Given the description of an element on the screen output the (x, y) to click on. 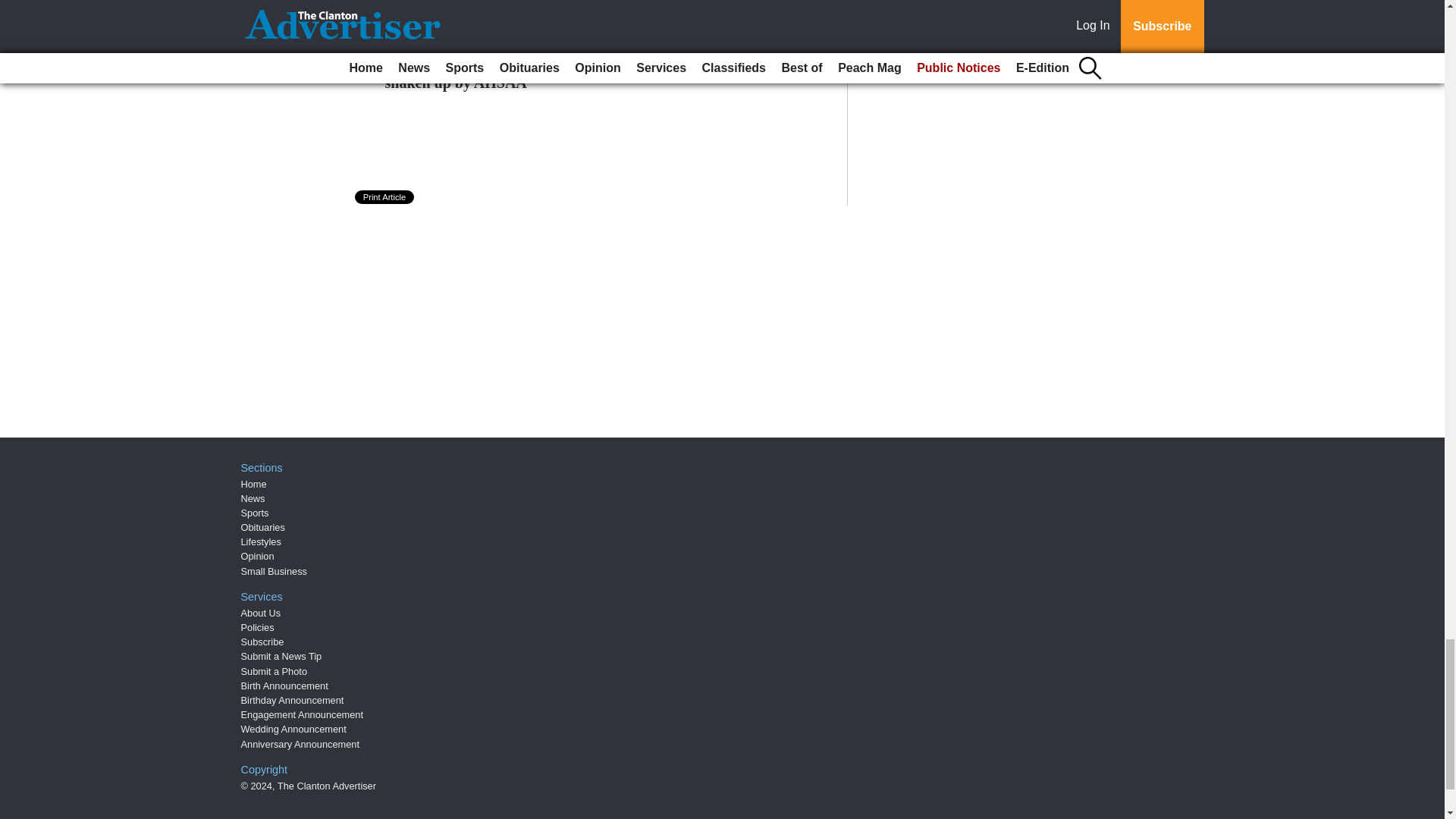
Chilton spring sports alignment shaken up by AHSAA (488, 73)
Home (253, 483)
Chilton spring sports alignment shaken up by AHSAA (488, 73)
Print Article (384, 196)
